Given the description of an element on the screen output the (x, y) to click on. 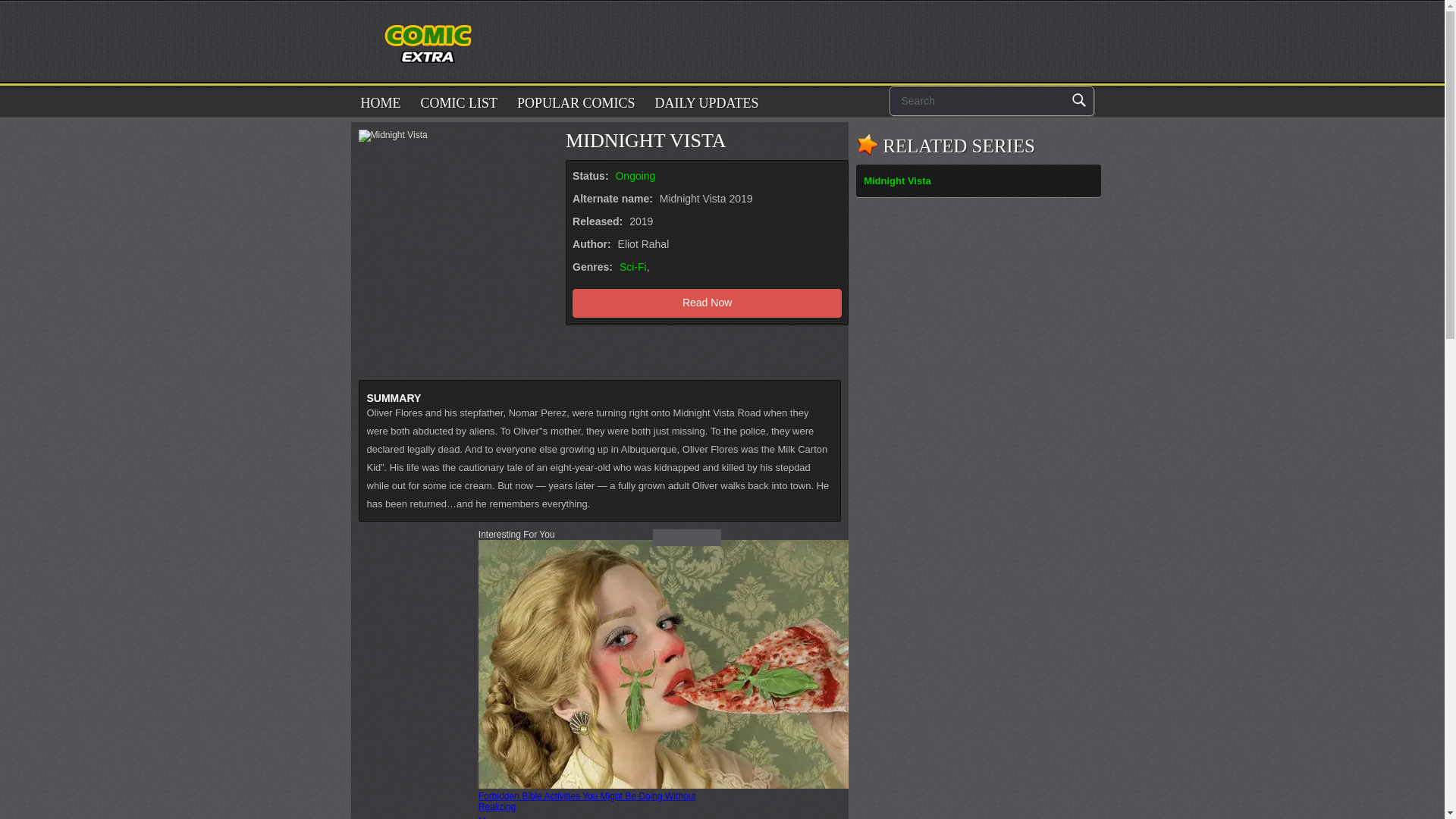
POPULAR COMICS (575, 101)
Read Comic Online (441, 30)
Midnight Vista (706, 303)
Read Now (706, 303)
Home (380, 101)
Midnight Vista (897, 180)
COMIC LIST (459, 101)
HOME (380, 101)
DAILY UPDATES (706, 101)
Ongoing (634, 175)
Sci-Fi (633, 266)
Midnight Vista (978, 180)
